Given the description of an element on the screen output the (x, y) to click on. 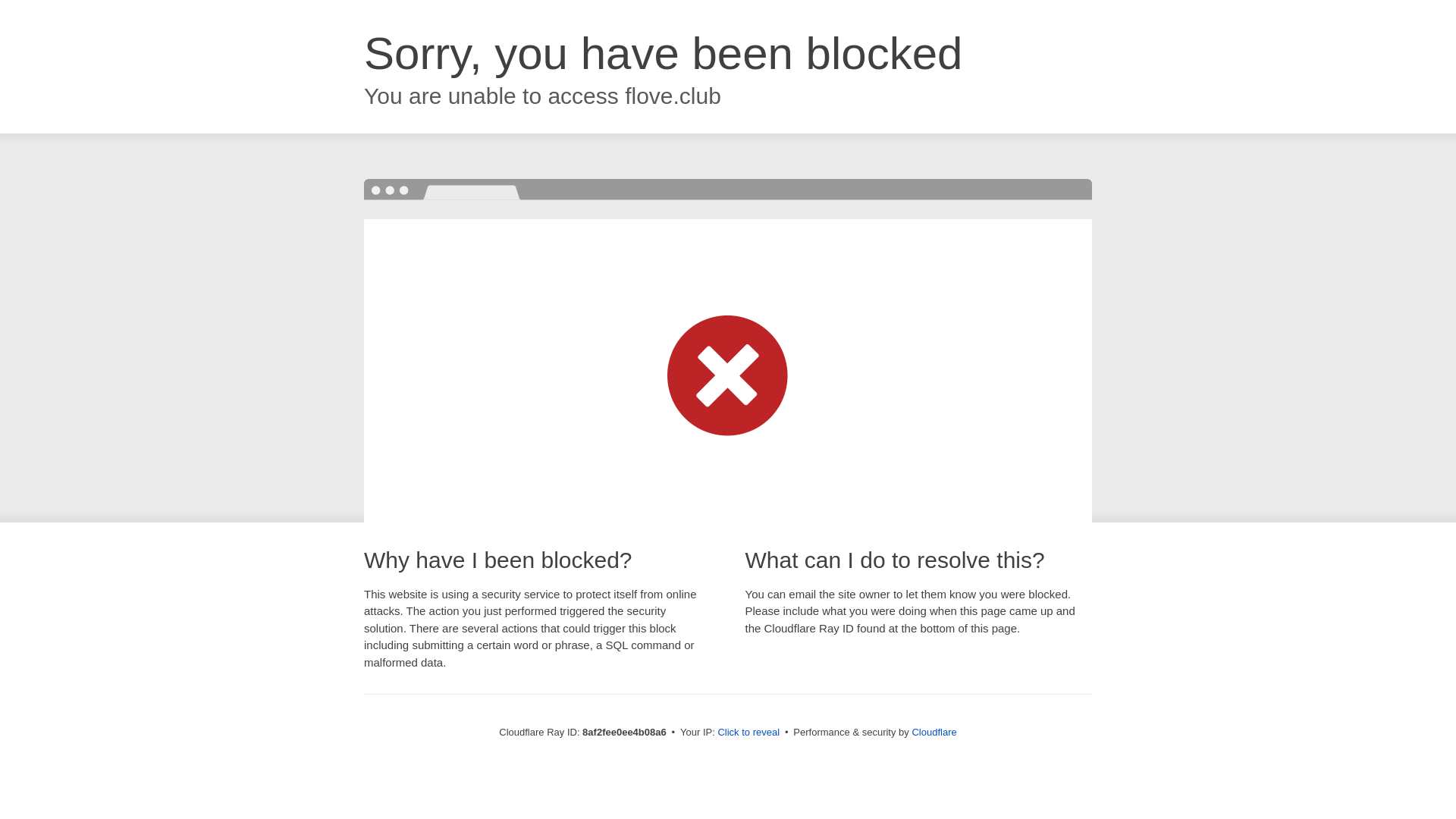
Cloudflare (933, 731)
Click to reveal (747, 732)
